Given the description of an element on the screen output the (x, y) to click on. 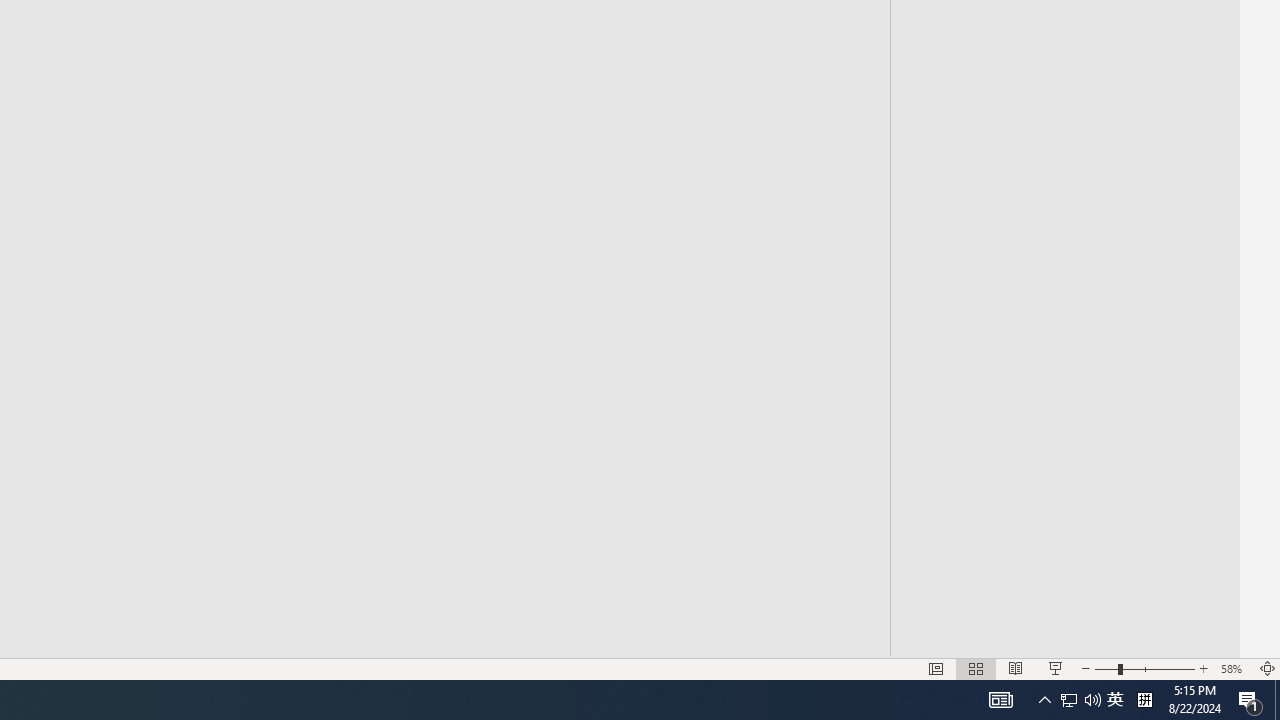
Zoom 58% (1234, 668)
